Given the description of an element on the screen output the (x, y) to click on. 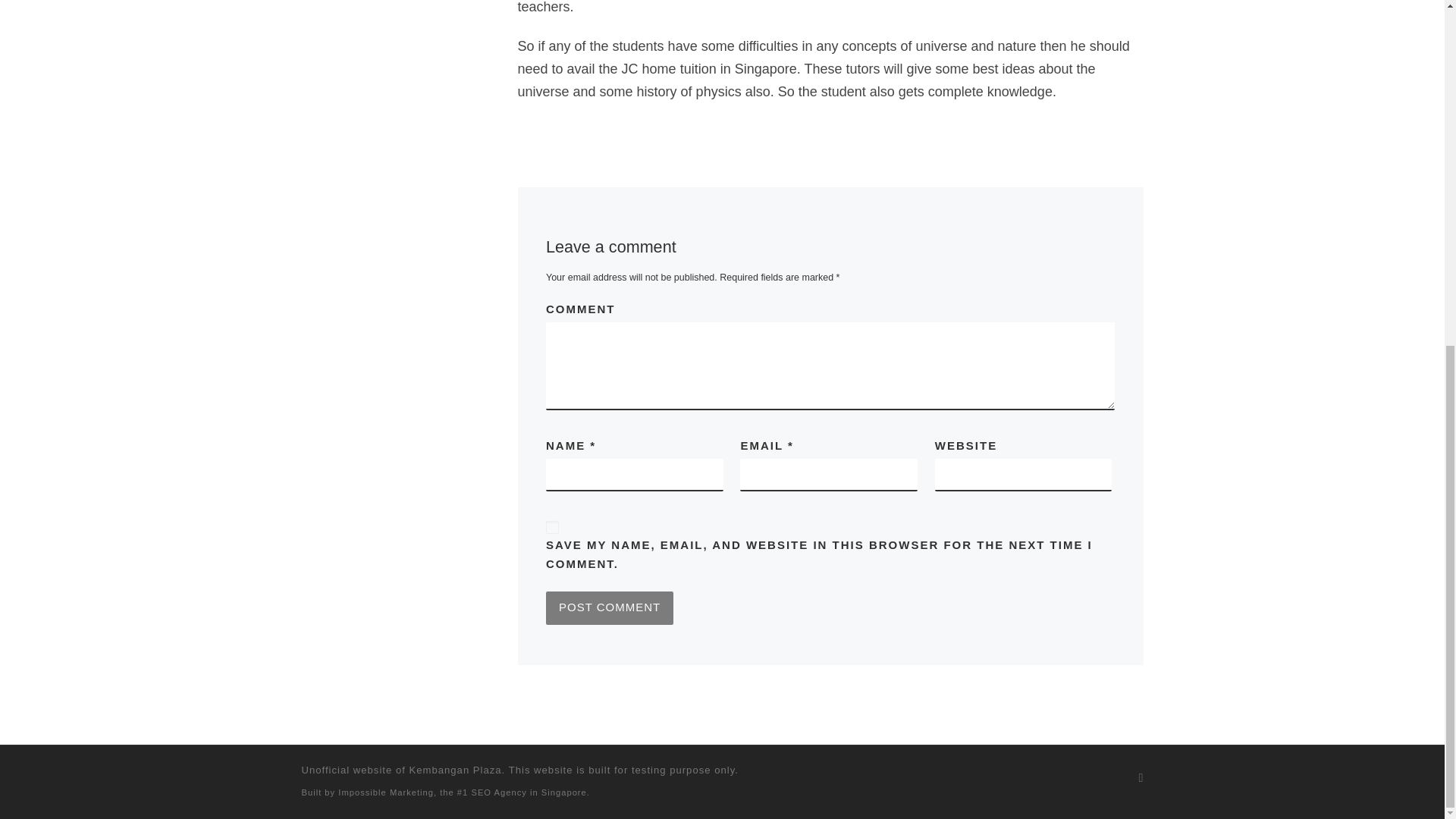
SEO Agency in Singapore (528, 791)
SEO Singapore, SEO Agency Singapore (528, 791)
yes (552, 526)
Post Comment (609, 607)
Post Comment (609, 607)
